Given the description of an element on the screen output the (x, y) to click on. 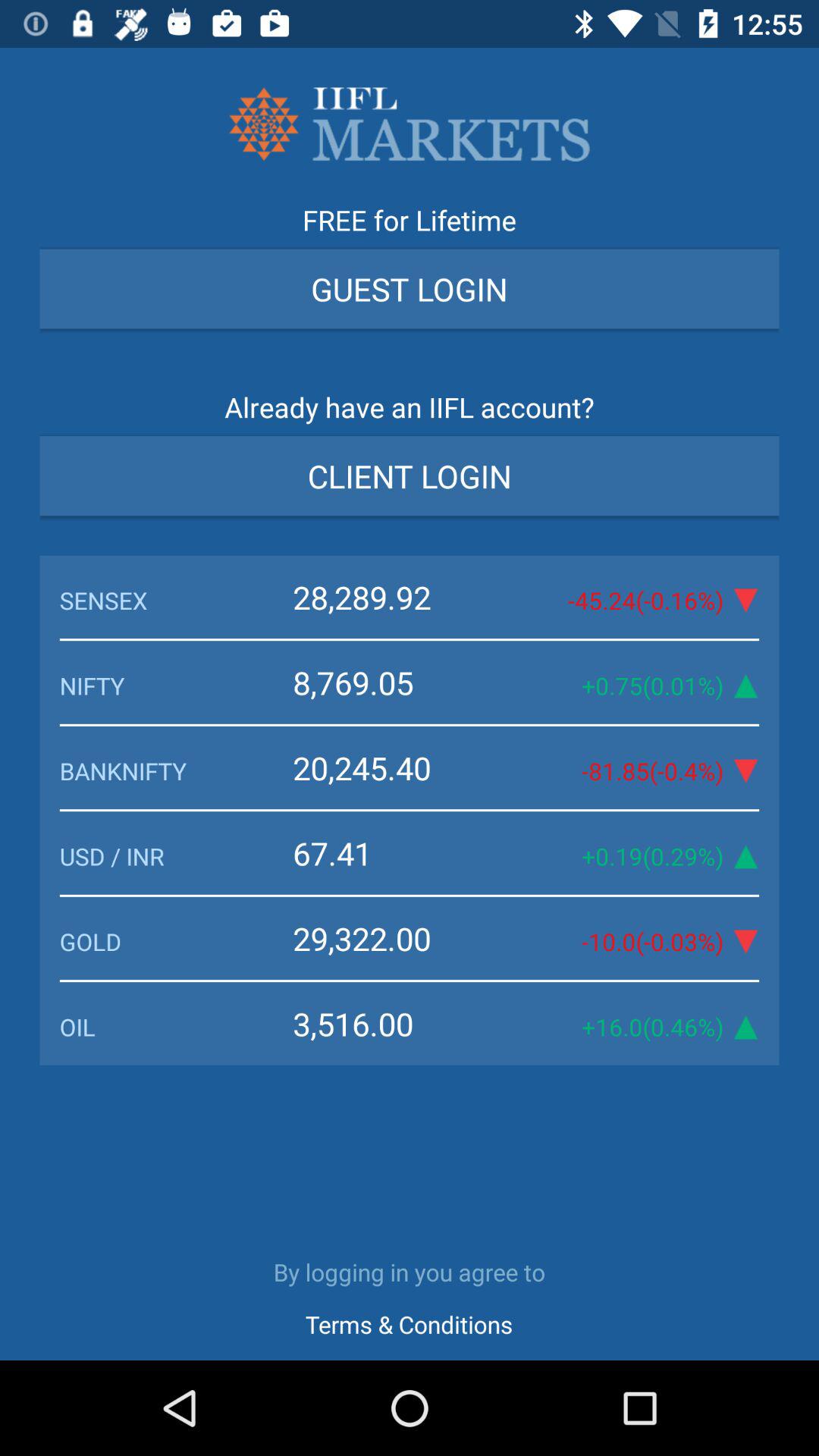
launch icon to the left of the 67.41 item (175, 856)
